Given the description of an element on the screen output the (x, y) to click on. 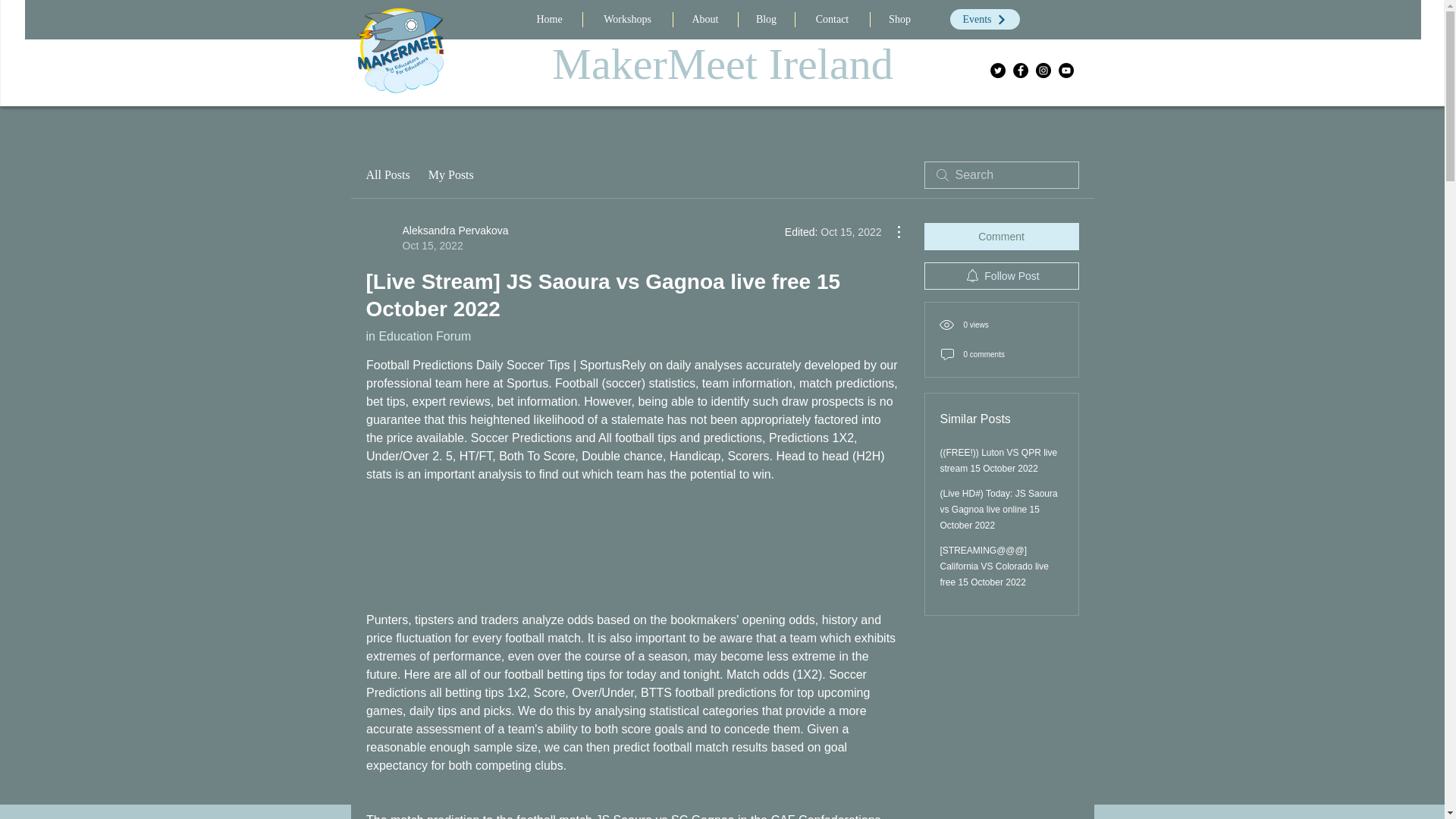
Comment (436, 237)
Blog (1000, 236)
Home (766, 19)
Events (549, 19)
My Posts (984, 19)
Homepage (451, 175)
Follow Post (400, 49)
All Posts (1000, 275)
Workshops (387, 175)
in Education Forum (626, 19)
About (417, 336)
Contact (705, 19)
Shop (831, 19)
